Given the description of an element on the screen output the (x, y) to click on. 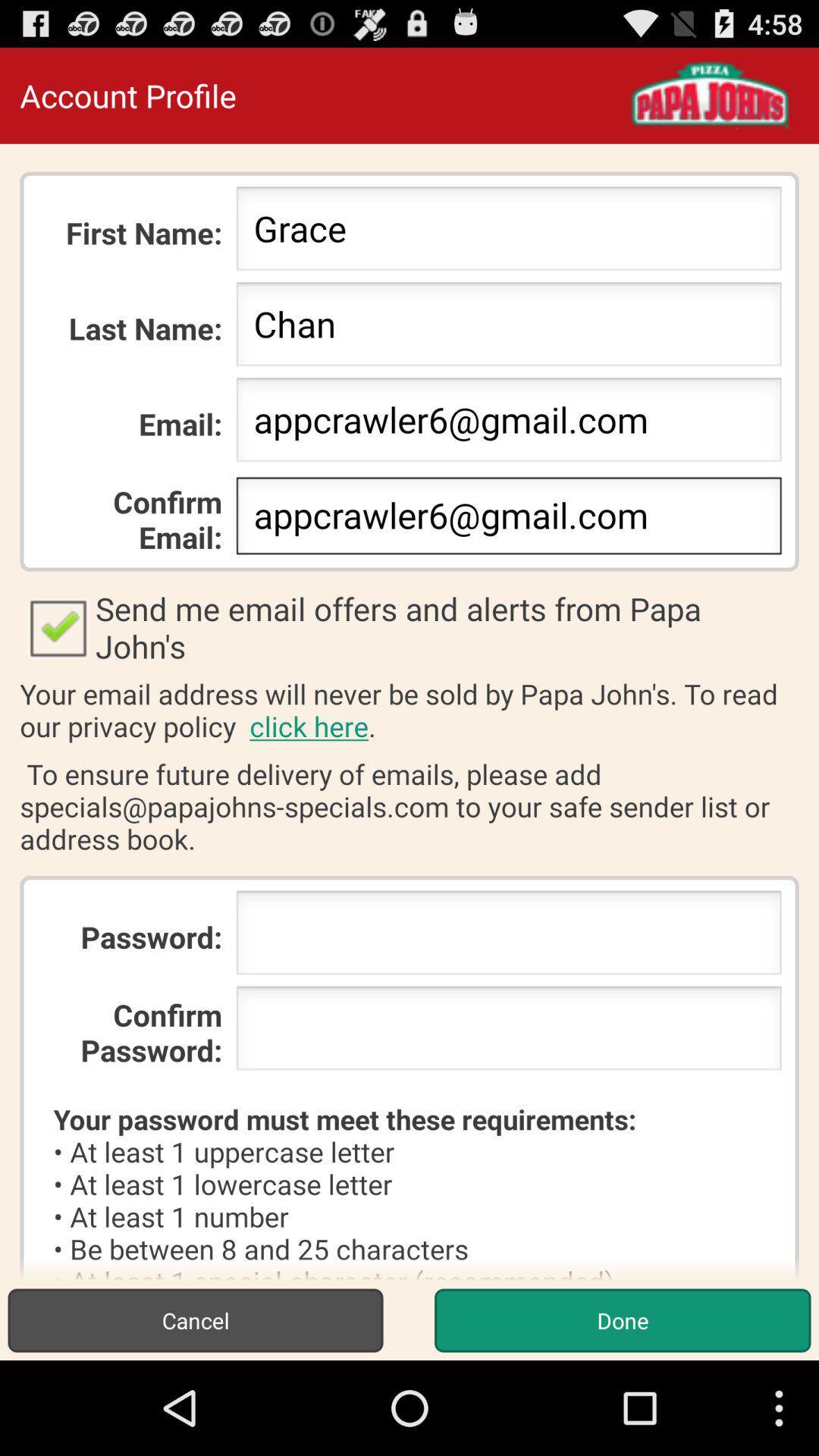
select item below the appcrawler6@gmail.com icon (409, 627)
